Given the description of an element on the screen output the (x, y) to click on. 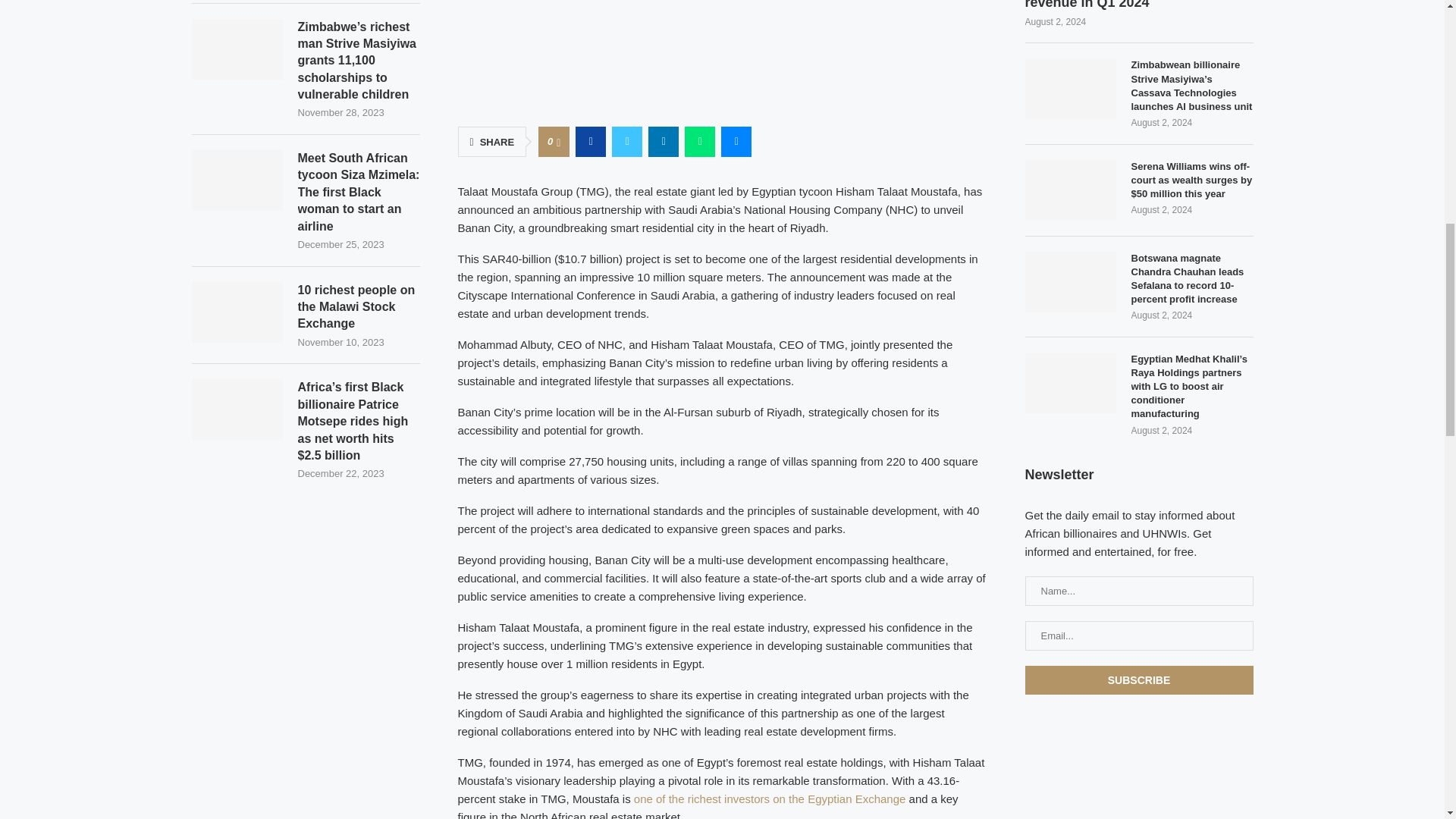
Subscribe (1139, 679)
Hisham Talaat Moustafa 1 (721, 53)
